Given the description of an element on the screen output the (x, y) to click on. 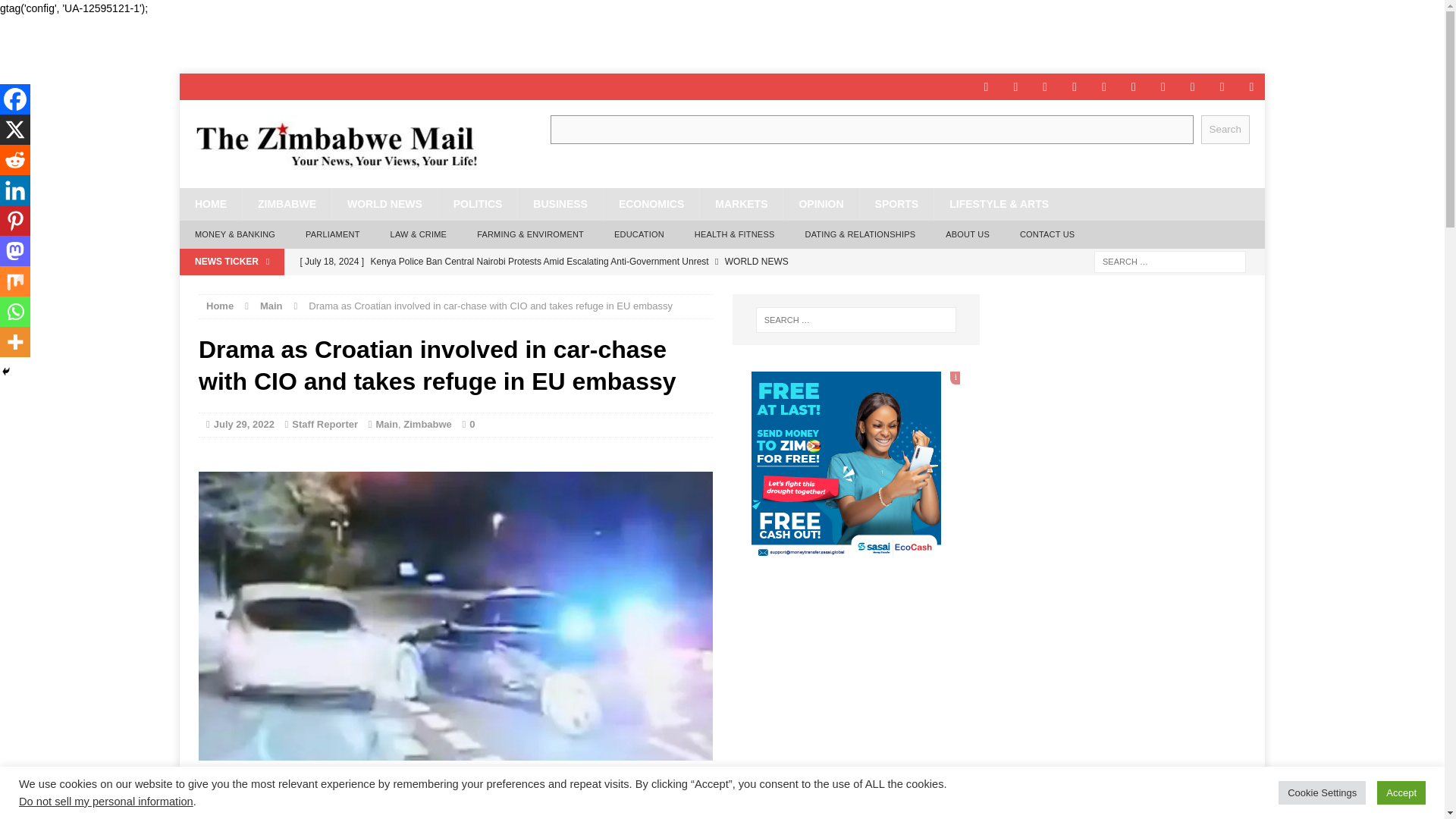
Pinterest (331, 808)
MARKETS (740, 204)
POLITICS (478, 204)
PARLIAMENT (331, 234)
EDUCATION (638, 234)
HOME (210, 204)
Reddit (272, 808)
OPINION (821, 204)
Whatsapp (420, 808)
ECONOMICS (650, 204)
SPORTS (896, 204)
Mix (390, 808)
Search (1225, 129)
BUSINESS (559, 204)
